Given the description of an element on the screen output the (x, y) to click on. 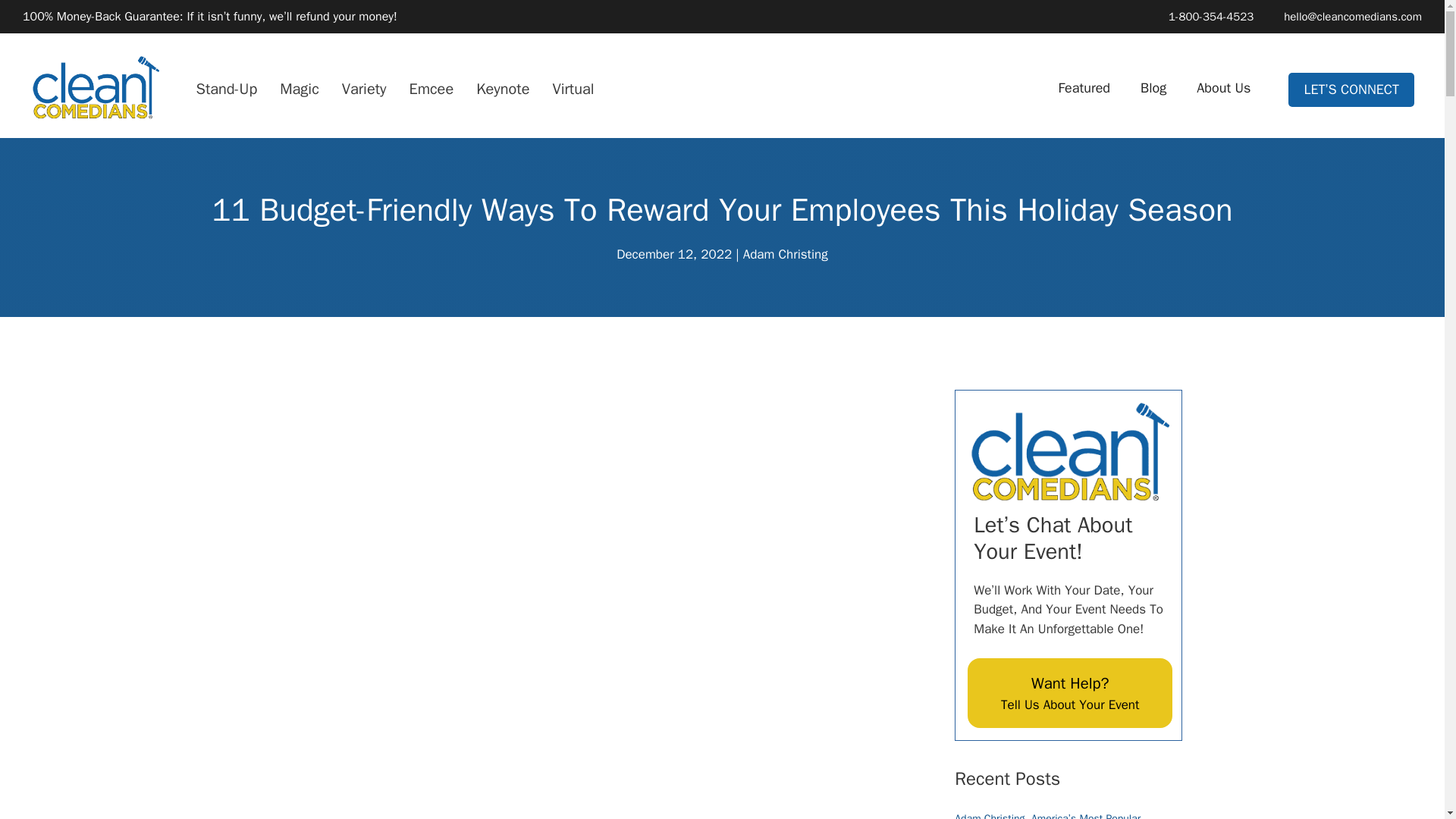
Featured (1083, 87)
Blog (1152, 87)
Emcee (430, 88)
Keynote (502, 88)
View all posts by Adam Christing (785, 254)
Stand-Up (226, 88)
About Us (1222, 87)
1-800-354-4523 (1203, 16)
Adam Christing (785, 254)
Variety (364, 88)
Virtual (572, 88)
Magic (298, 88)
